Given the description of an element on the screen output the (x, y) to click on. 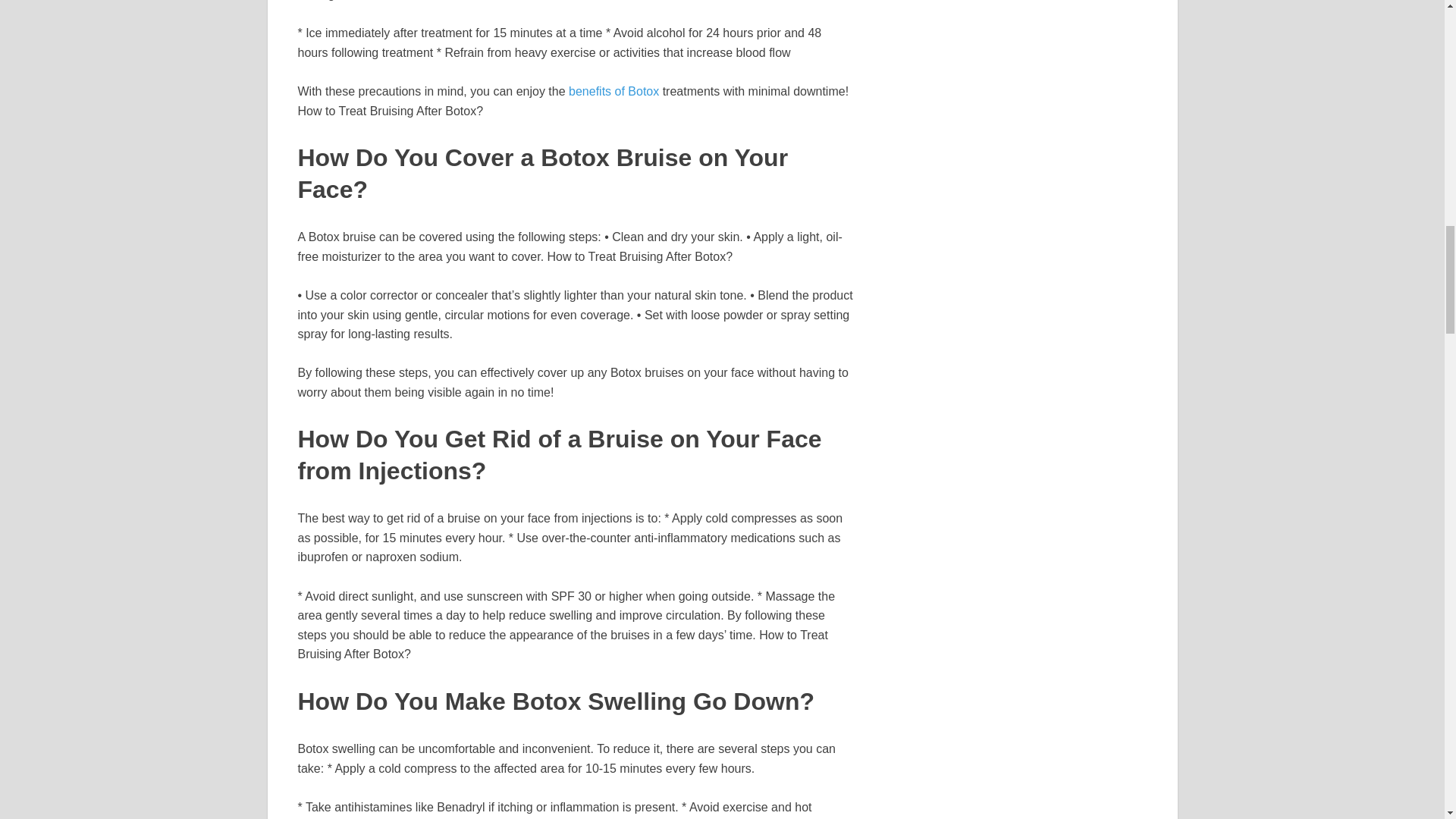
benefits of Botox (614, 91)
